Given the description of an element on the screen output the (x, y) to click on. 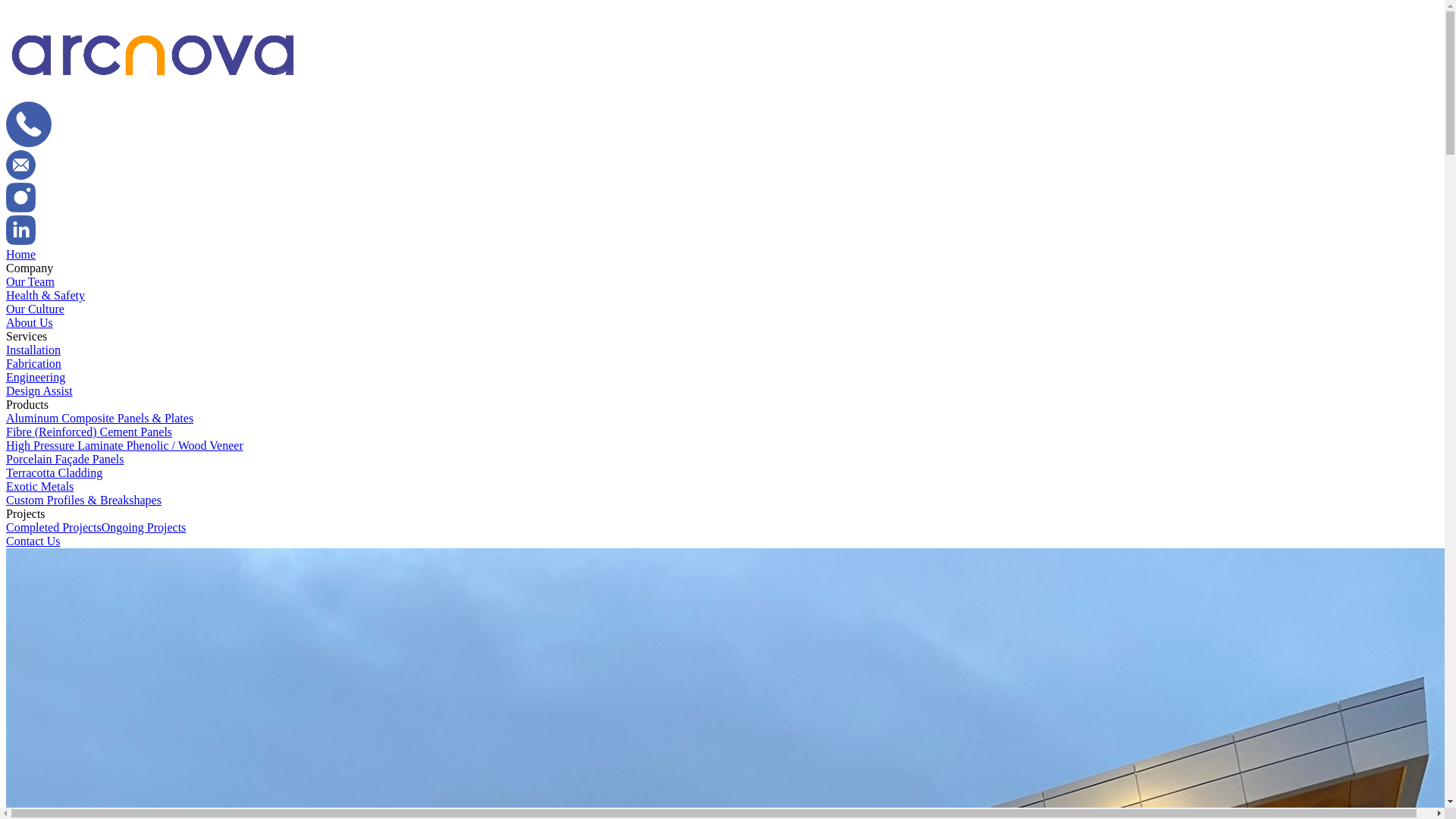
High Pressure Laminate Phenolic / Wood Veneer Element type: text (124, 445)
Health & Safety Element type: text (45, 294)
Home Element type: text (20, 253)
Contact Us Element type: text (33, 540)
Our Culture Element type: text (35, 308)
Engineering Element type: text (35, 376)
Installation Element type: text (33, 349)
Custom Profiles & Breakshapes Element type: text (83, 499)
Exotic Metals Element type: text (39, 486)
Ongoing Projects Element type: text (143, 526)
Terracotta Cladding Element type: text (54, 472)
About Us Element type: text (29, 322)
Fabrication Element type: text (33, 363)
Completed Projects Element type: text (53, 526)
Design Assist Element type: text (39, 390)
Fibre (Reinforced) Cement Panels Element type: text (89, 431)
Aluminum Composite Panels & Plates Element type: text (99, 417)
Our Team Element type: text (30, 281)
